Given the description of an element on the screen output the (x, y) to click on. 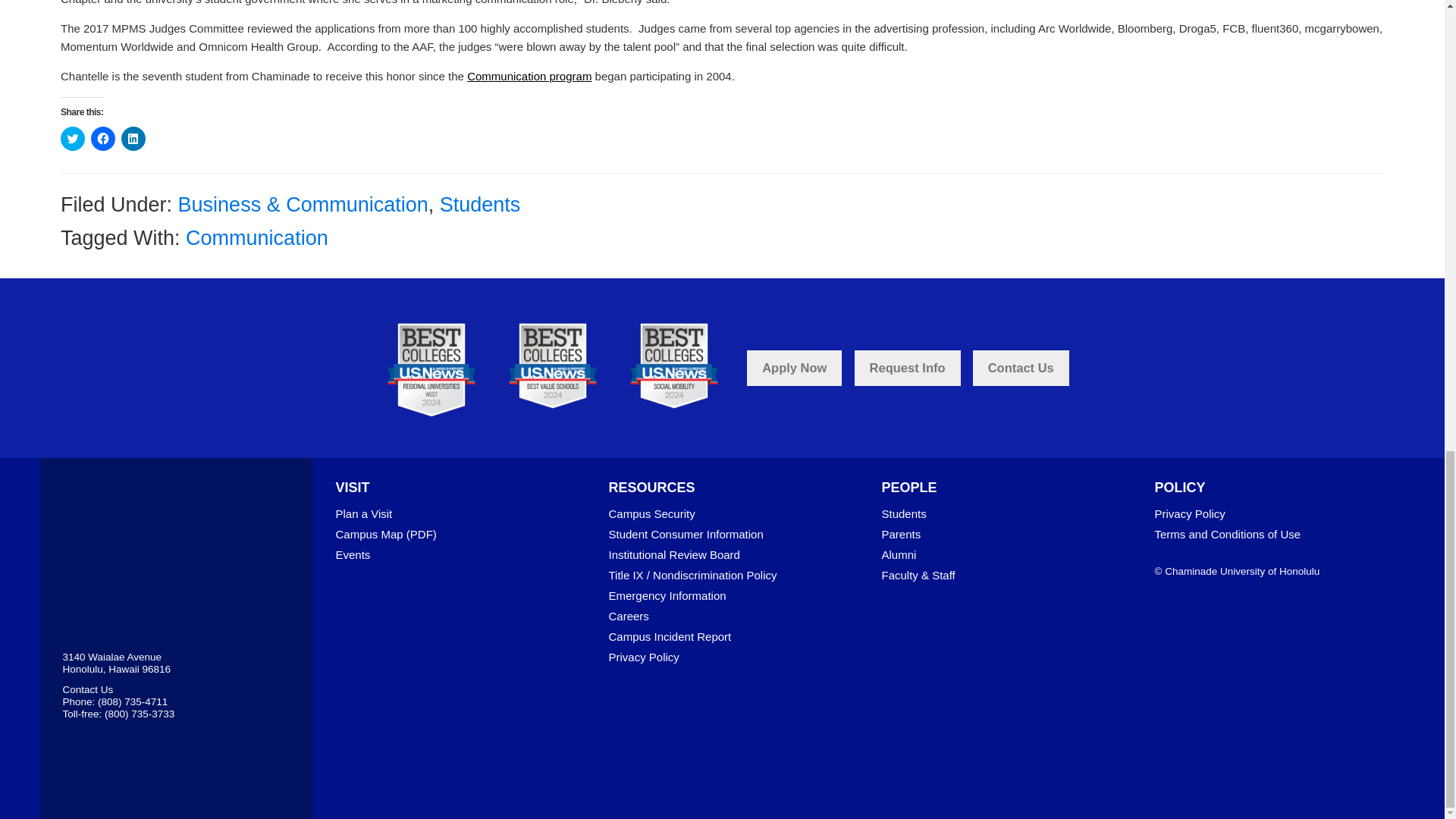
Click to share on Facebook (102, 138)
Click to share on LinkedIn (132, 138)
Click to share on Twitter (72, 138)
